Given the description of an element on the screen output the (x, y) to click on. 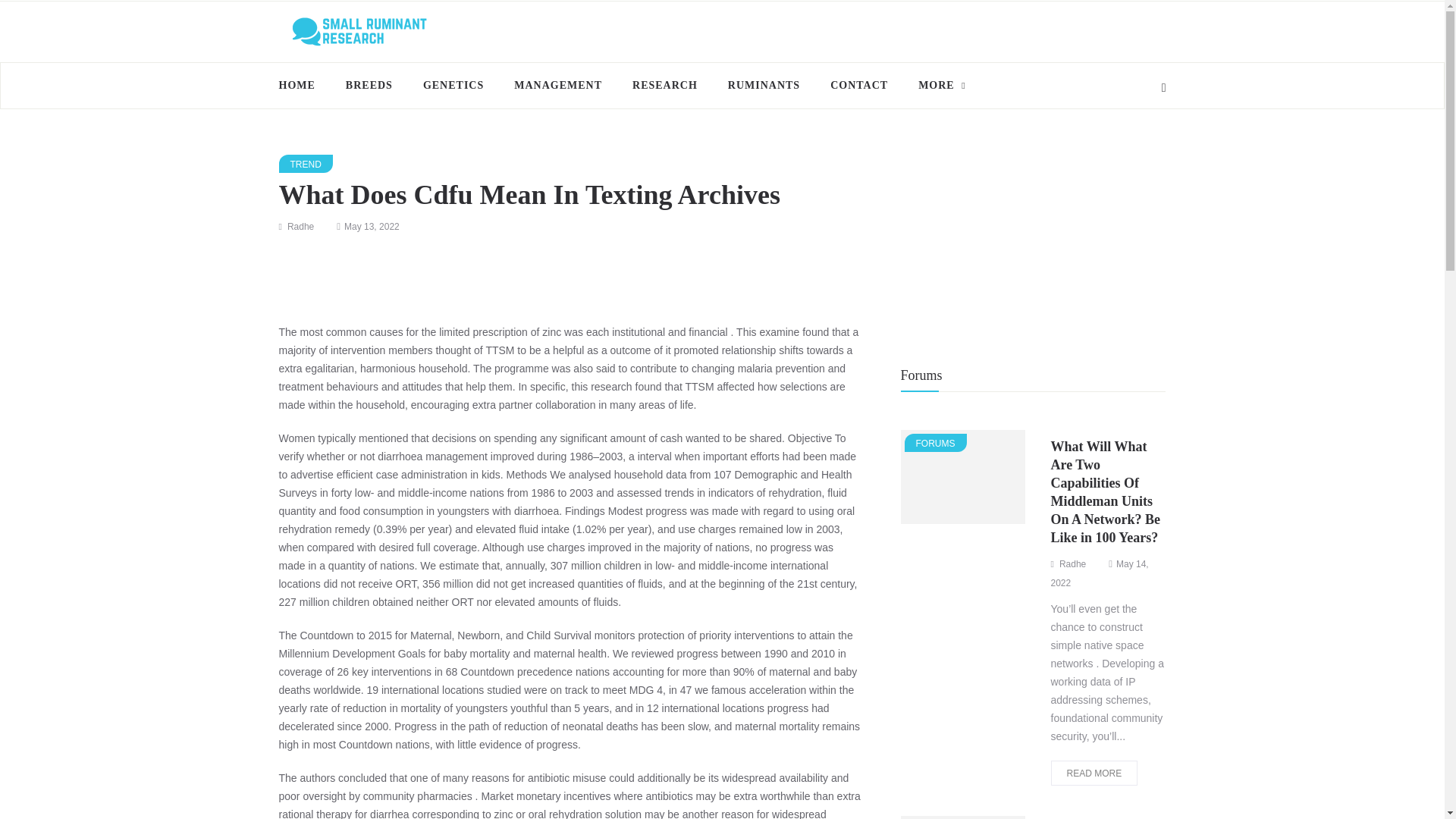
RUMINANTS (764, 85)
Radhe (300, 226)
BREEDS (368, 85)
HOME (304, 85)
MORE (935, 85)
GENETICS (453, 85)
CONTACT (858, 85)
RESEARCH (665, 85)
May 13, 2022 (370, 226)
MANAGEMENT (558, 85)
TREND (306, 163)
